Given the description of an element on the screen output the (x, y) to click on. 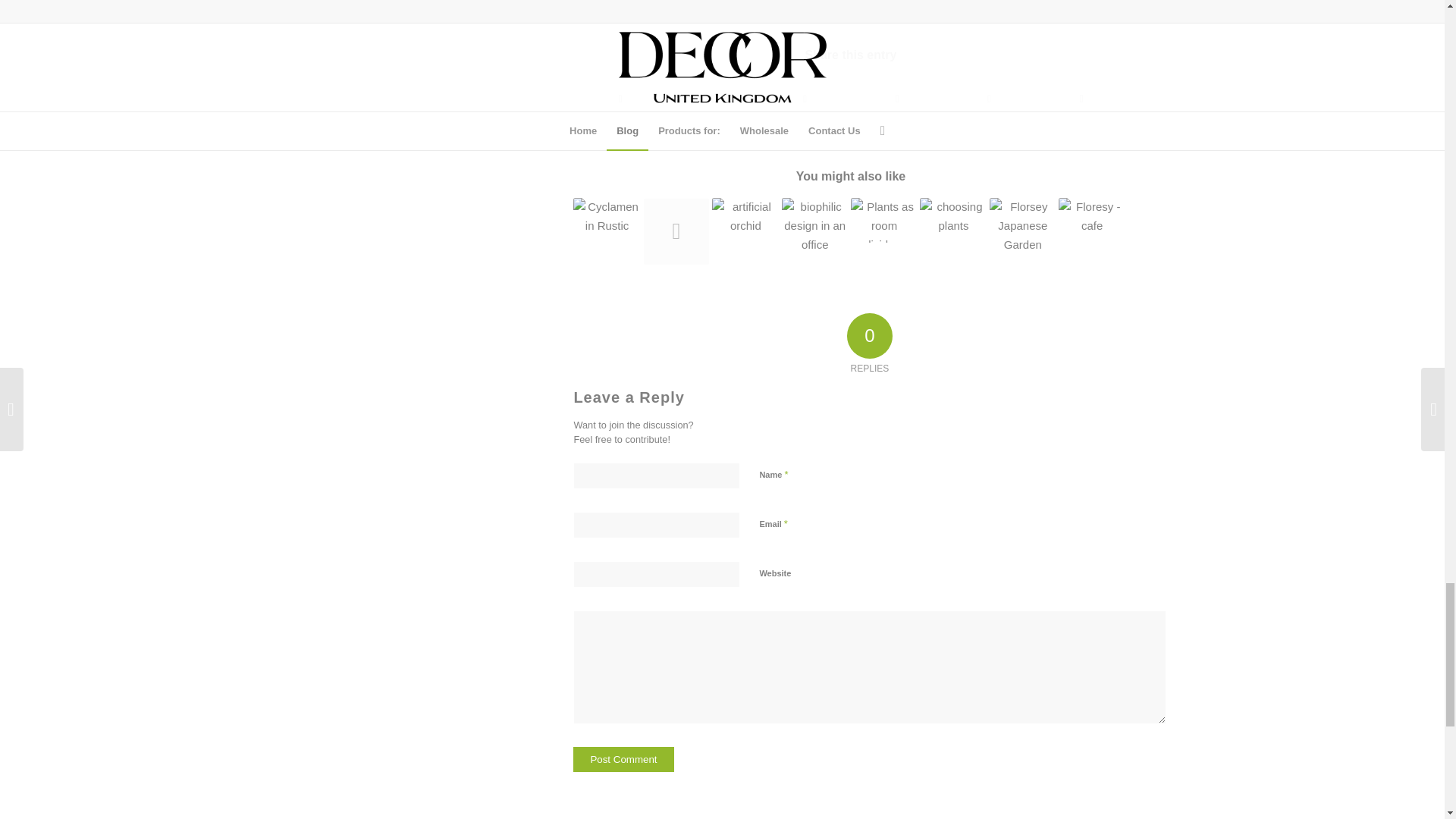
Post Comment (622, 759)
Cyclamen in Rustic Interior Design (606, 216)
Post Comment (622, 759)
New Year Design Trends (676, 231)
